Given the description of an element on the screen output the (x, y) to click on. 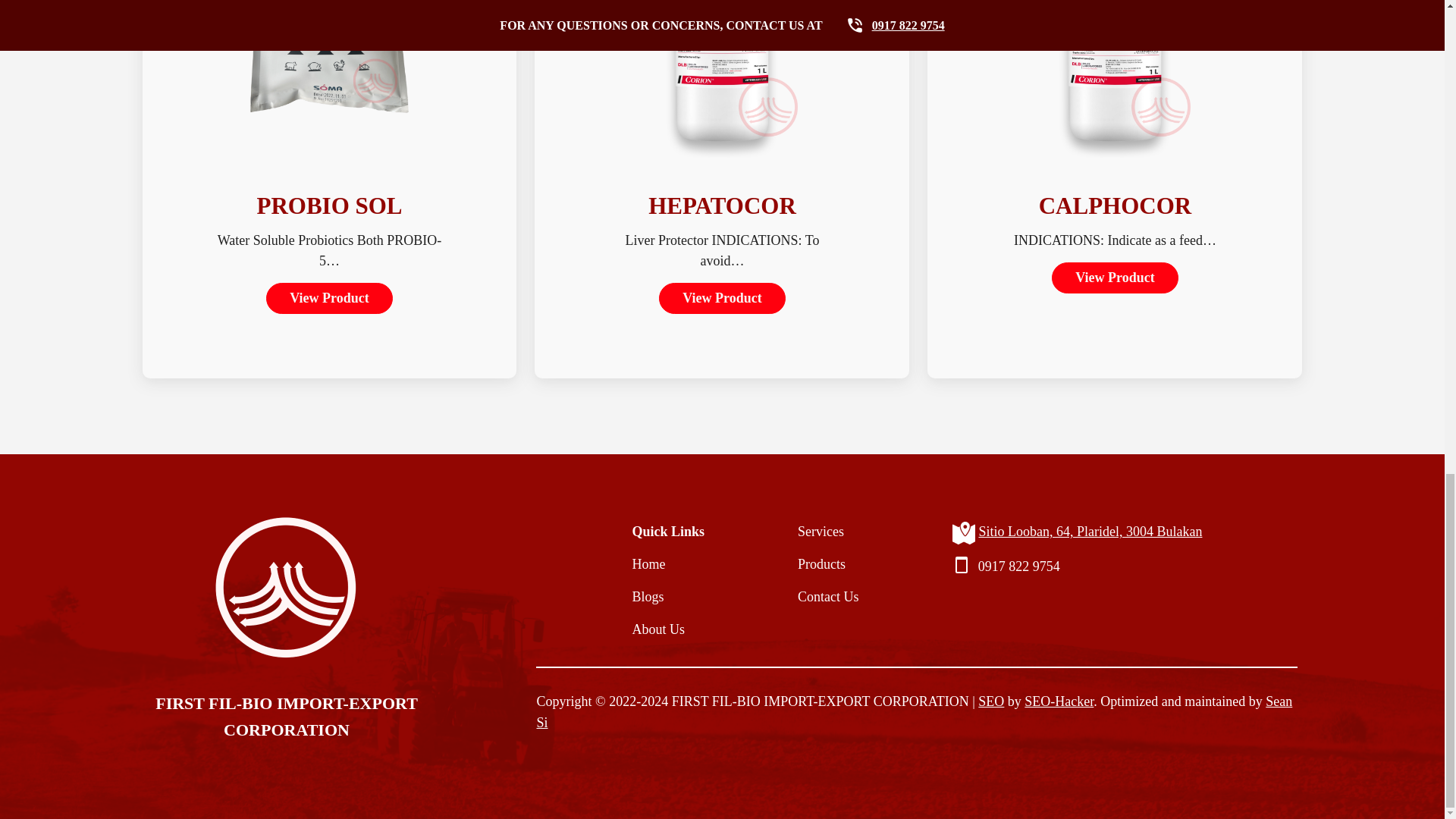
View Product (328, 297)
Services (828, 531)
0917 822 9754 (1018, 566)
Home (667, 563)
View Product (721, 297)
Products (828, 563)
Quick Links (667, 531)
View Product (1114, 277)
Sitio Looban, 64, Plaridel, 3004 Bulakan (1090, 531)
Contact Us (828, 596)
FIRST FIL-BIO (715, 701)
About Us (667, 629)
Blogs (667, 596)
SEO (991, 701)
